Given the description of an element on the screen output the (x, y) to click on. 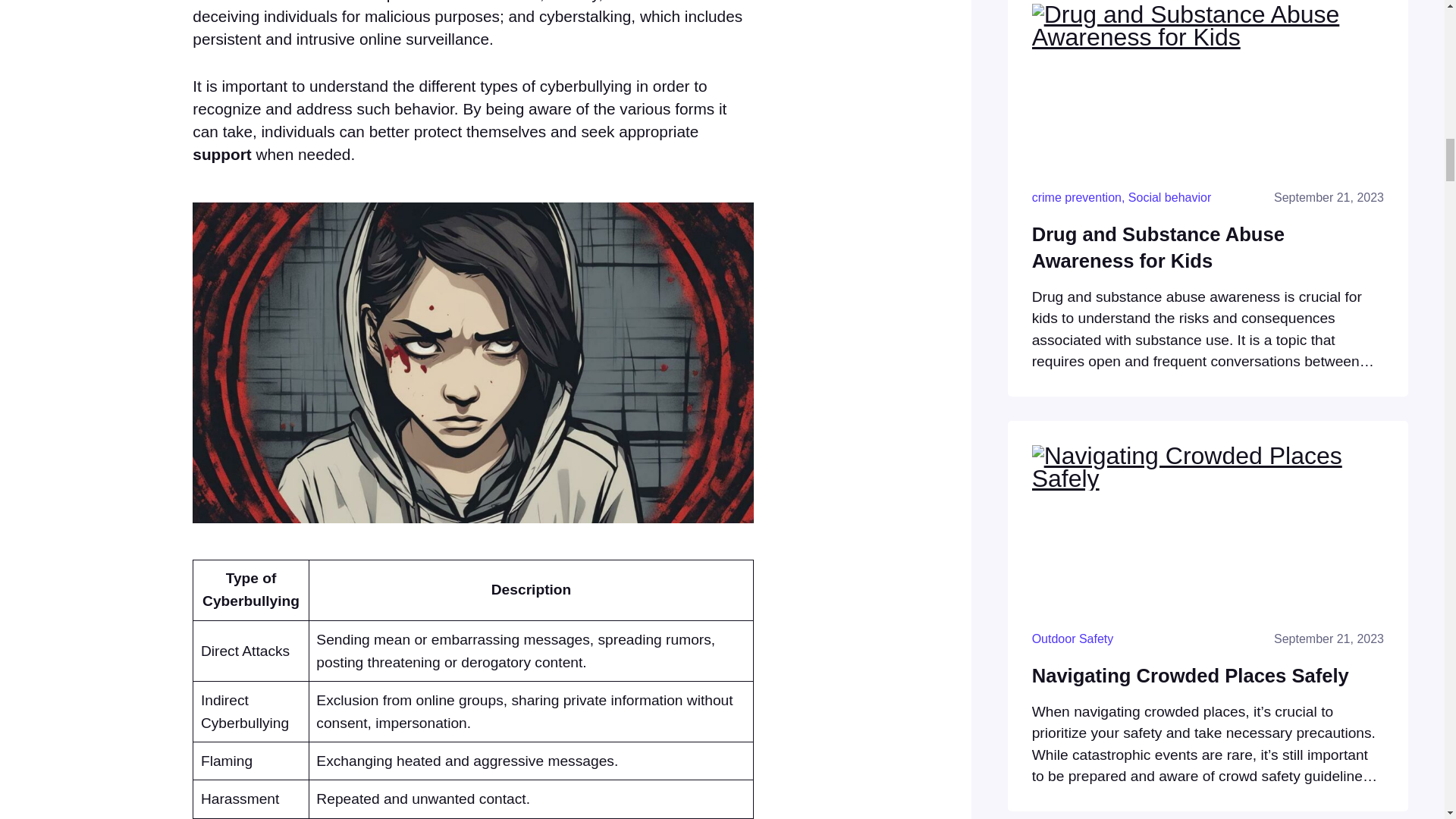
Social behavior (1169, 196)
Drug and Substance Abuse Awareness for Kids (1208, 247)
crime prevention (1076, 196)
